Given the description of an element on the screen output the (x, y) to click on. 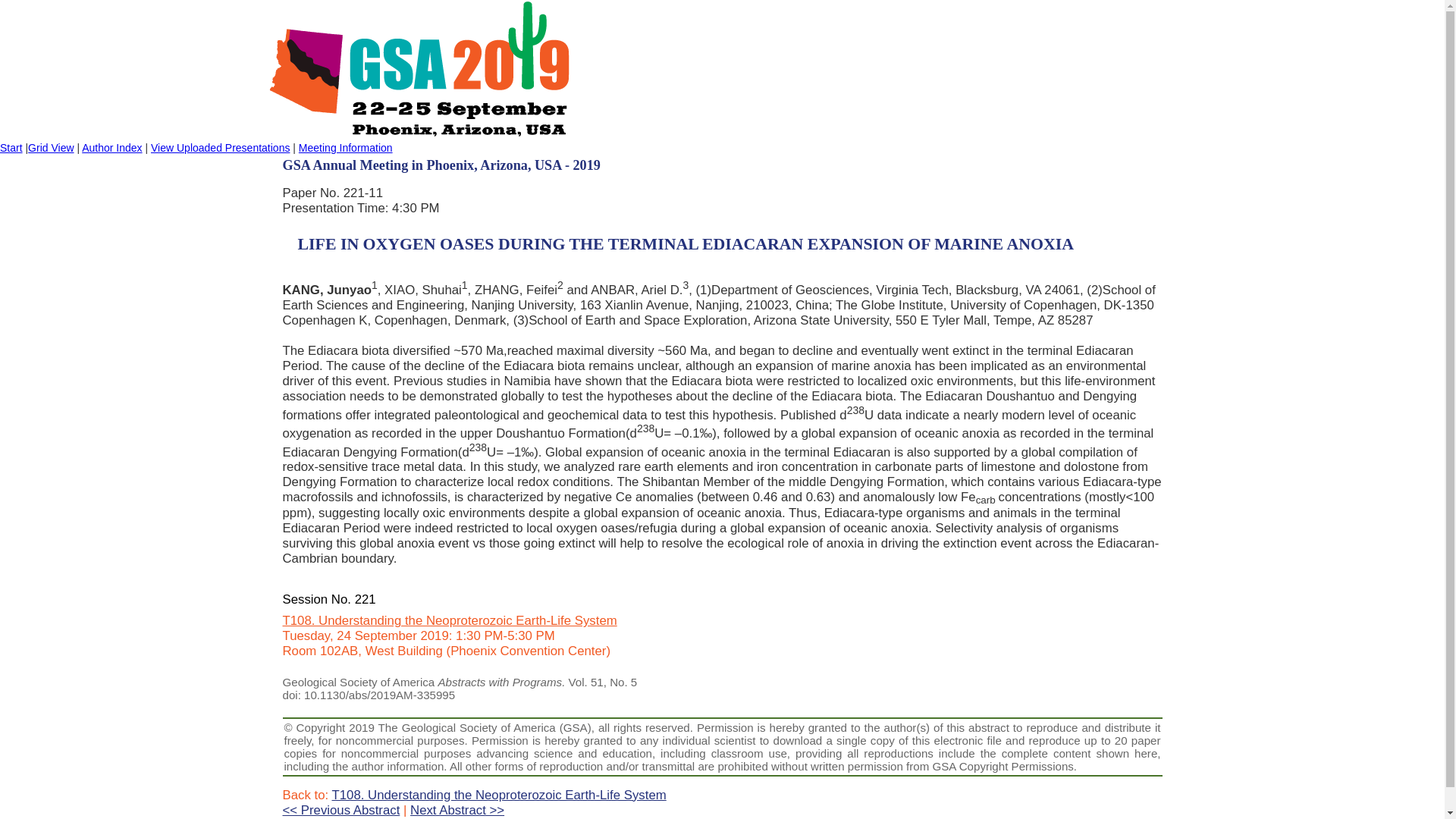
Author Index (111, 147)
Meeting Information (345, 147)
Grid View (50, 147)
Start (11, 147)
T108. Understanding the Neoproterozoic Earth-Life System (498, 794)
T108. Understanding the Neoproterozoic Earth-Life System (448, 620)
View Uploaded Presentations (220, 147)
